Given the description of an element on the screen output the (x, y) to click on. 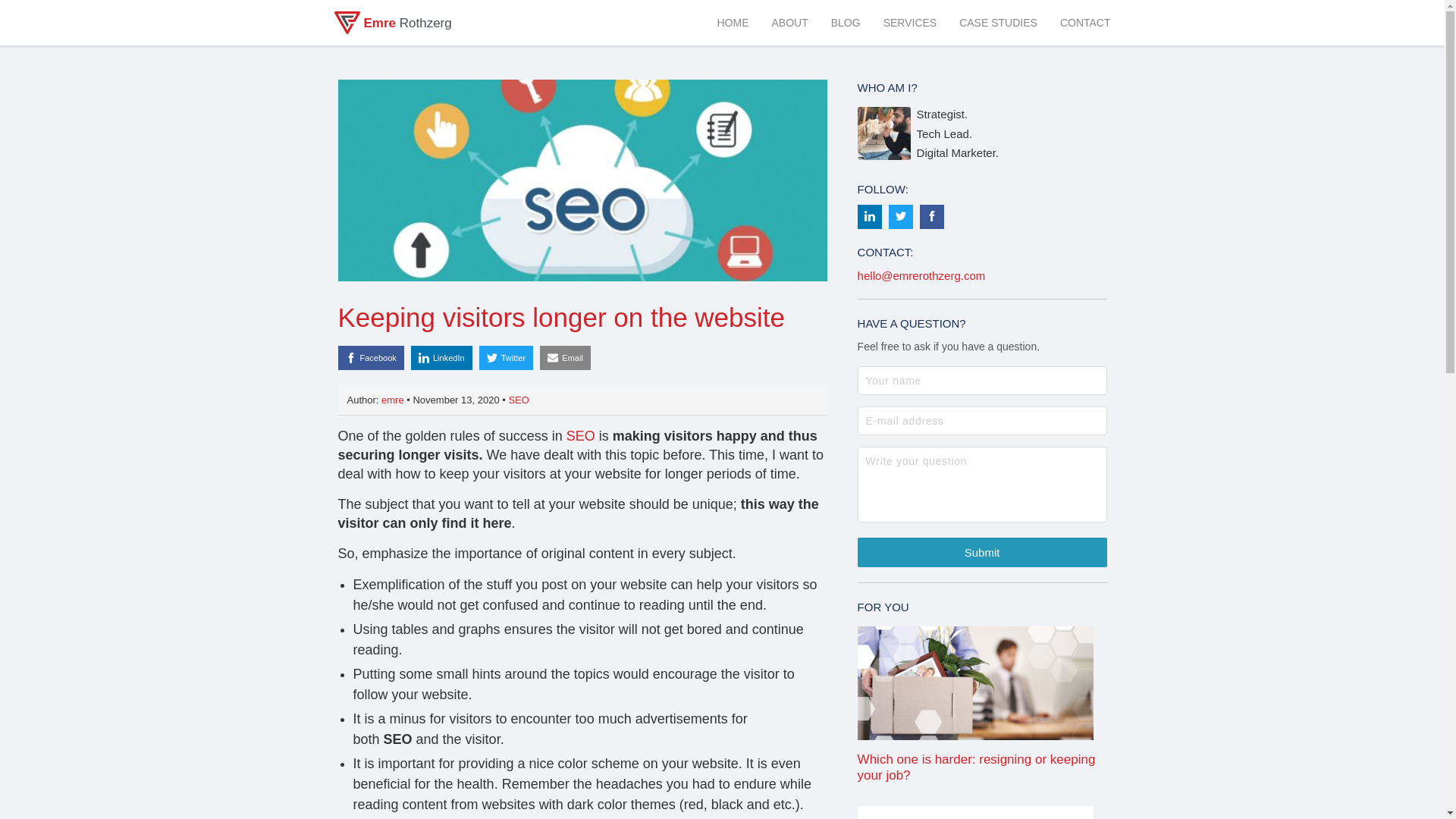
hello@emrerothzerg.com Element type: text (921, 275)
Facebook Element type: text (371, 357)
BLOG Element type: text (845, 22)
emre Element type: text (393, 399)
Twitter Element type: text (506, 357)
CONTACT Element type: text (1085, 22)
ABOUT Element type: text (789, 22)
Email Element type: text (564, 357)
SERVICES Element type: text (910, 22)
SEO Element type: text (518, 399)
Which one is harder: resigning or keeping your job? Element type: text (982, 704)
SEO Element type: text (580, 435)
Submit Element type: text (982, 552)
LinkedIn Element type: text (441, 357)
CASE STUDIES Element type: text (997, 22)
HOME Element type: text (732, 22)
Emre Rothzerg Element type: text (392, 22)
